Given the description of an element on the screen output the (x, y) to click on. 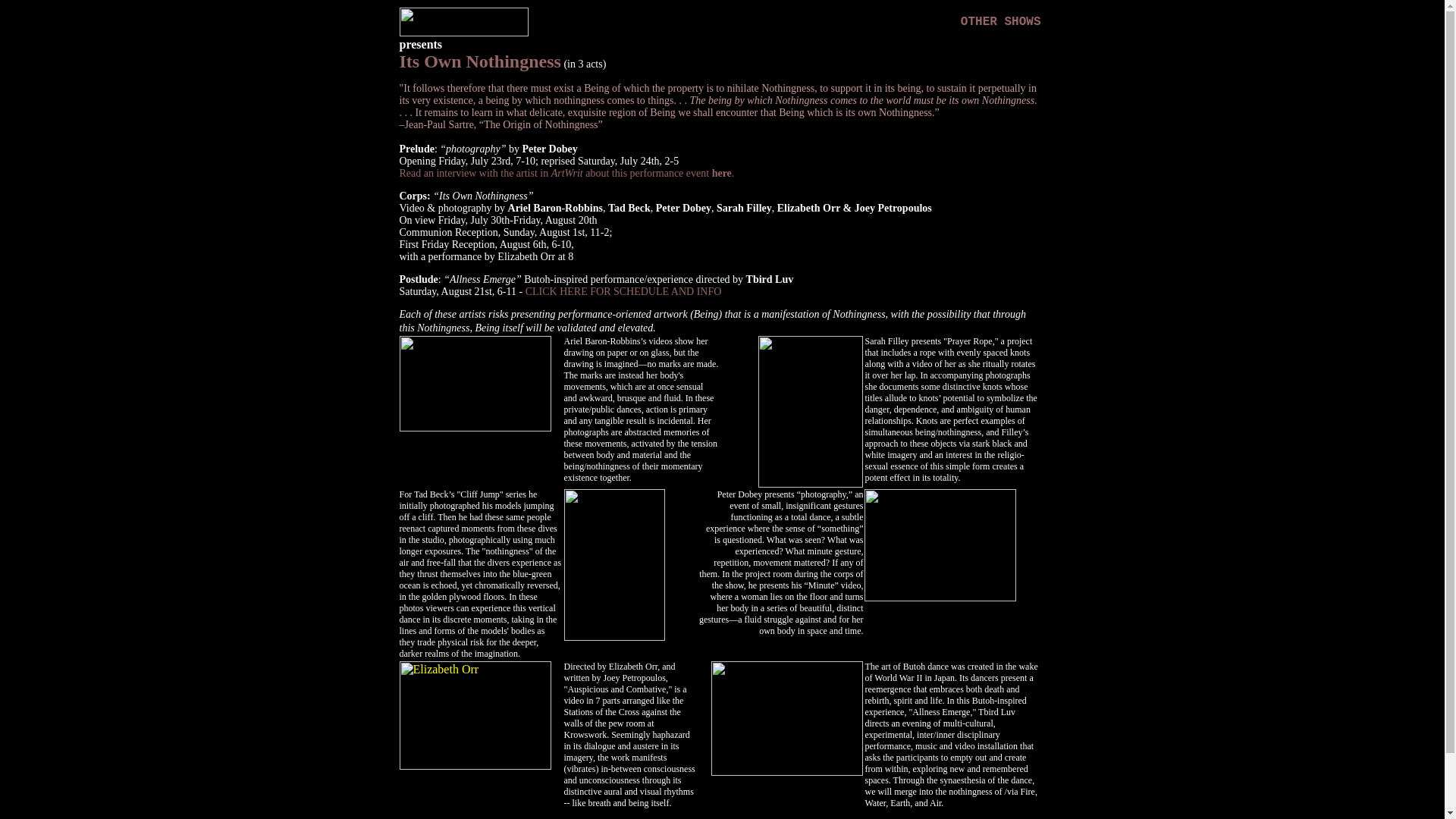
CLICK HERE FOR SCHEDULE AND INFO (623, 291)
OTHER SHOWS (1000, 21)
